Given the description of an element on the screen output the (x, y) to click on. 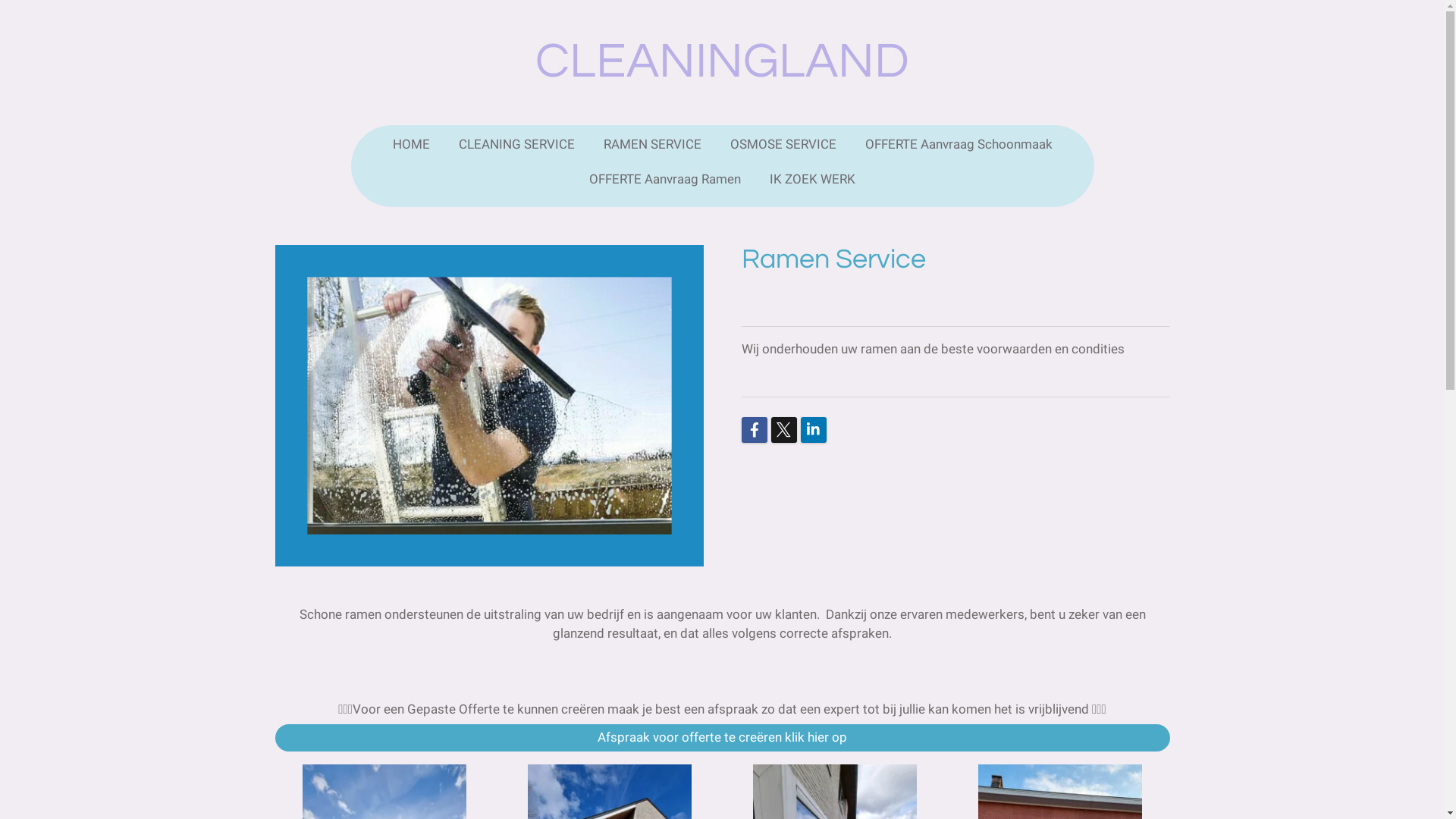
CLEANINGLAND Element type: text (722, 63)
IK ZOEK WERK Element type: text (812, 179)
OFFERTE Aanvraag Schoonmaak Element type: text (957, 144)
OFFERTE Aanvraag Ramen Element type: text (664, 179)
RAMEN SERVICE Element type: text (652, 144)
CLEANING SERVICE Element type: text (515, 144)
HOME Element type: text (411, 144)
OSMOSE SERVICE Element type: text (782, 144)
